Given the description of an element on the screen output the (x, y) to click on. 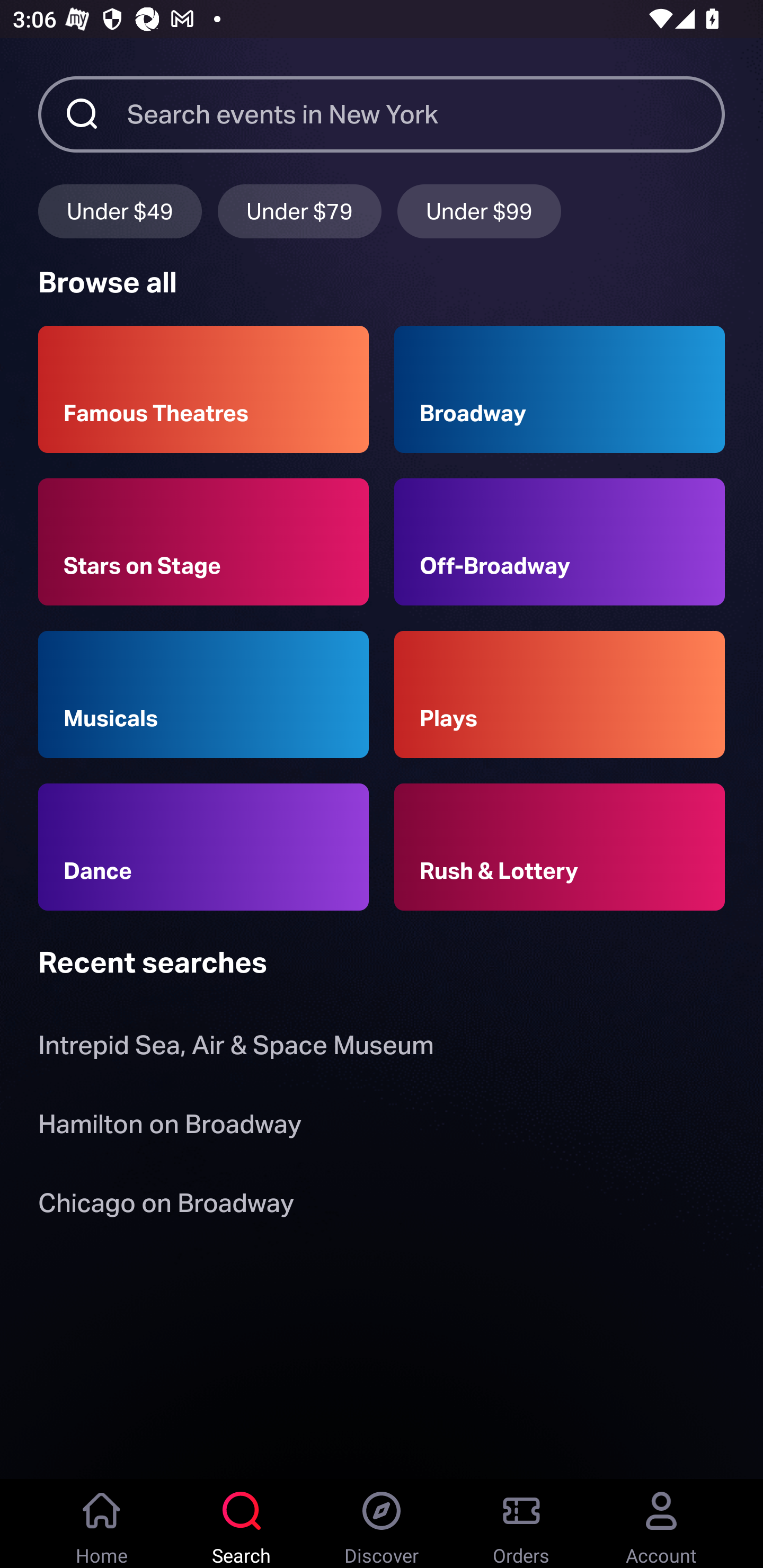
Search events in New York (425, 113)
Under $49 (120, 211)
Under $79 (299, 211)
Under $99 (478, 211)
Famous Theatres (203, 389)
Broadway (559, 389)
Stars on Stage (203, 541)
Off-Broadway (559, 541)
Musicals (203, 693)
Plays (559, 693)
Dance (203, 847)
Rush & Lottery (559, 847)
Intrepid Sea, Air & Space Museum (236, 1048)
Hamilton on Broadway (169, 1127)
Chicago on Broadway (165, 1205)
Home (101, 1523)
Discover (381, 1523)
Orders (521, 1523)
Account (660, 1523)
